Given the description of an element on the screen output the (x, y) to click on. 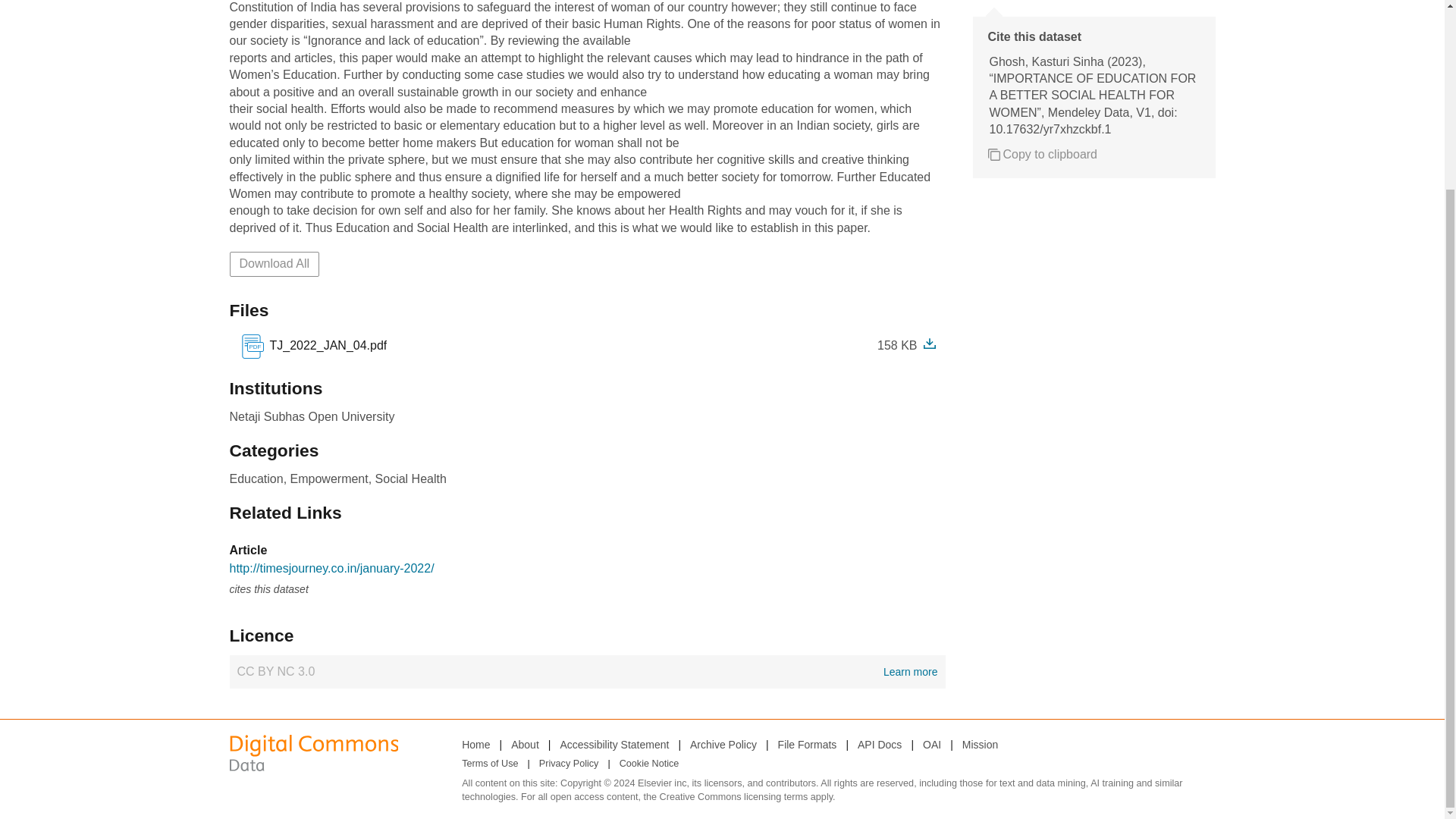
File Formats (807, 744)
Cookie Notice (649, 763)
Download All (273, 263)
Accessibility Statement (613, 744)
Terms of Use (489, 763)
Home (475, 744)
Mission (979, 744)
Archive Policy (723, 744)
API Docs (586, 671)
